Given the description of an element on the screen output the (x, y) to click on. 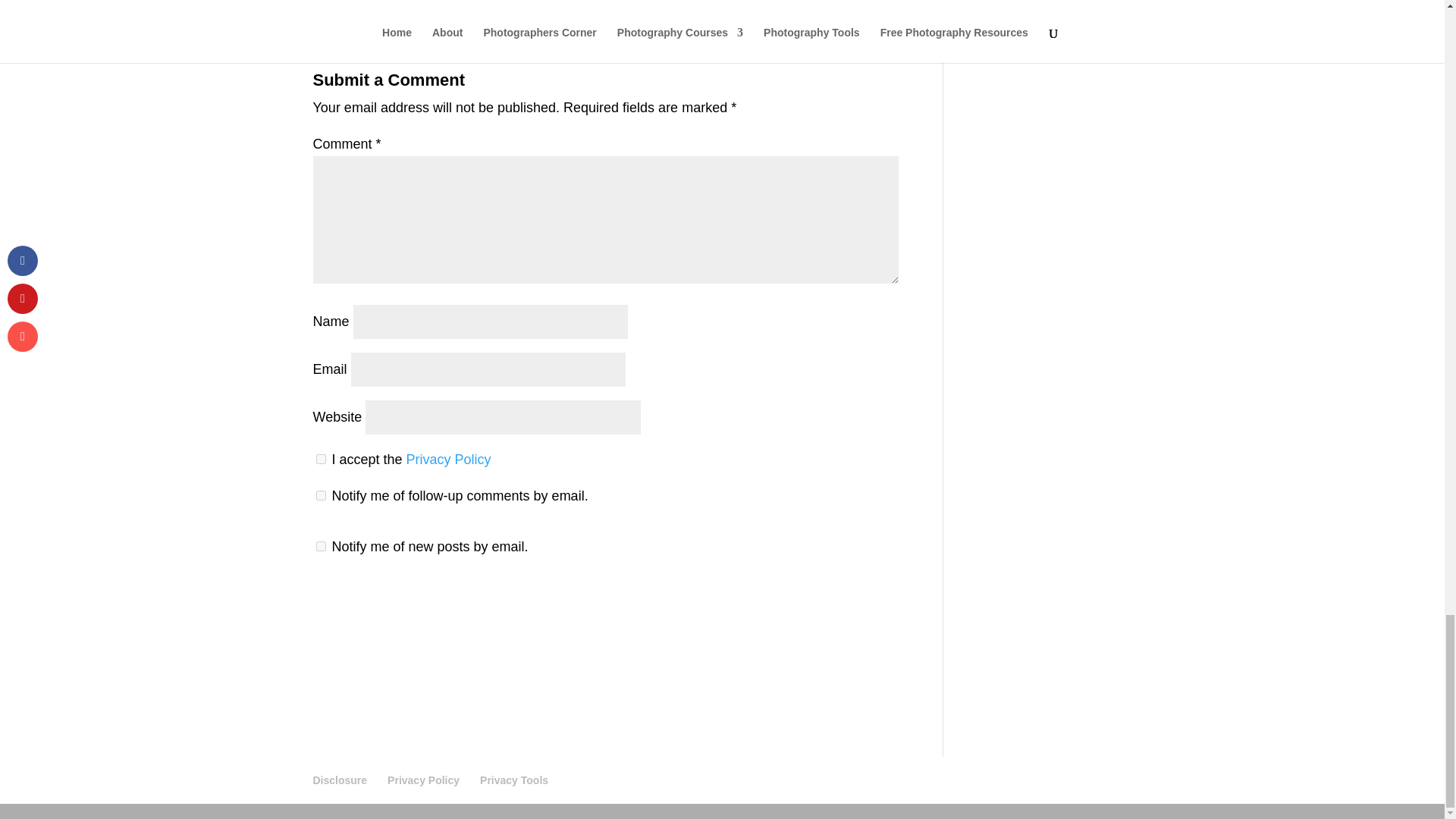
Privacy Tools (514, 779)
Submit Comment (823, 604)
Privacy Policy (449, 459)
subscribe (319, 546)
Privacy Policy (423, 779)
Disclosure (339, 779)
subscribe (319, 495)
1 (319, 459)
Submit Comment (823, 604)
